Given the description of an element on the screen output the (x, y) to click on. 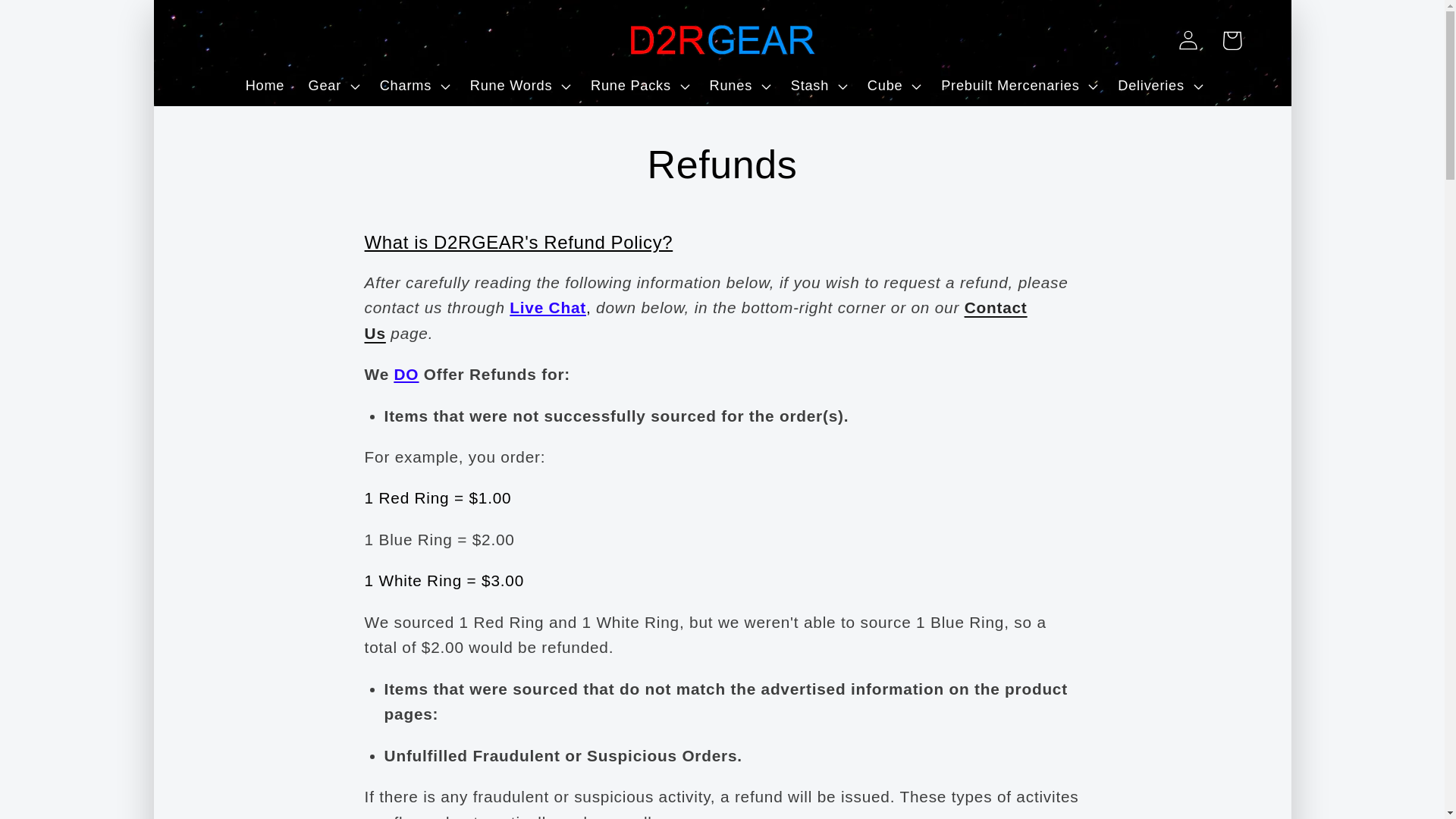
Contact Us (696, 320)
